Given the description of an element on the screen output the (x, y) to click on. 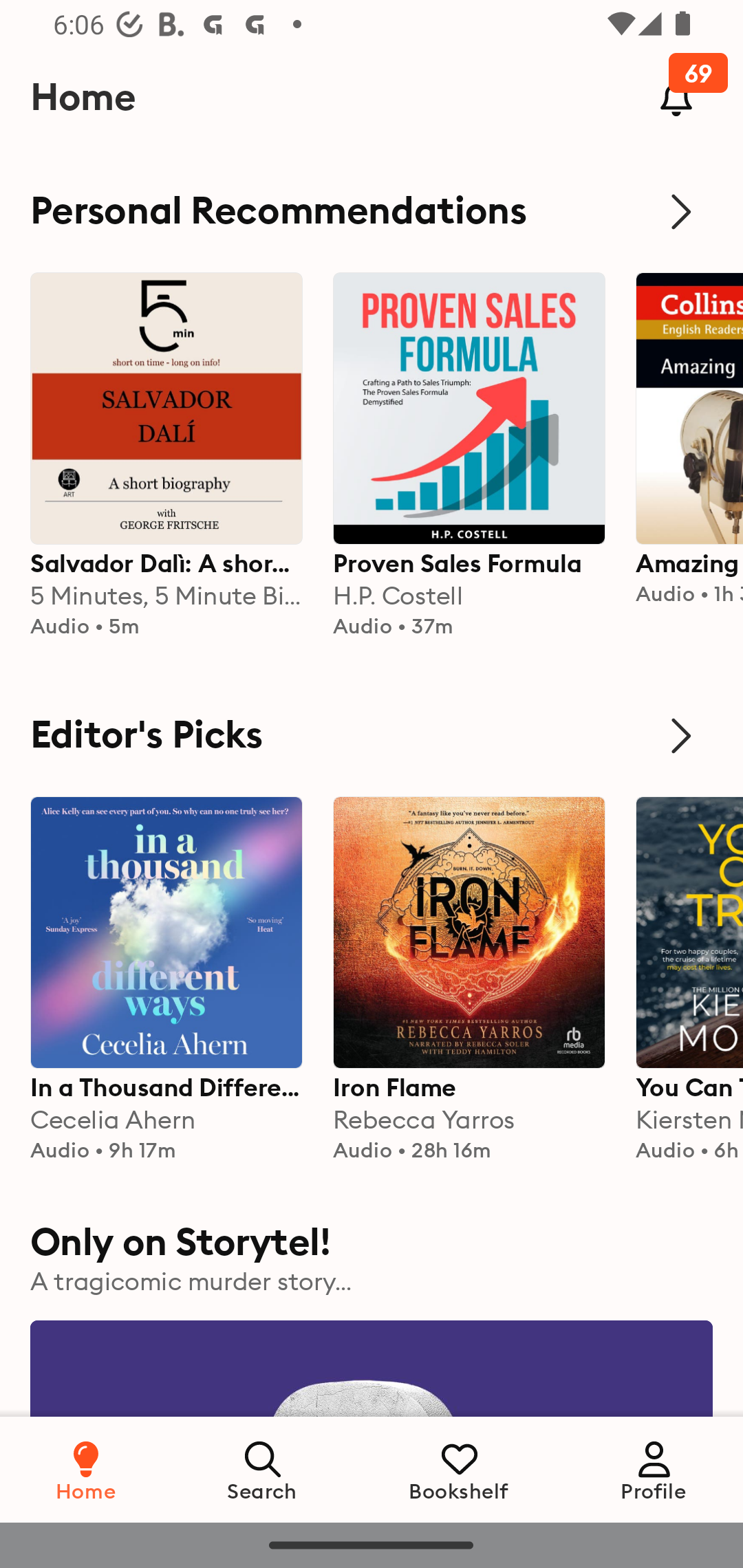
Personal Recommendations (371, 211)
Editor's Picks (371, 735)
Home (85, 1468)
Search (262, 1468)
Bookshelf (458, 1468)
Profile (653, 1468)
